Given the description of an element on the screen output the (x, y) to click on. 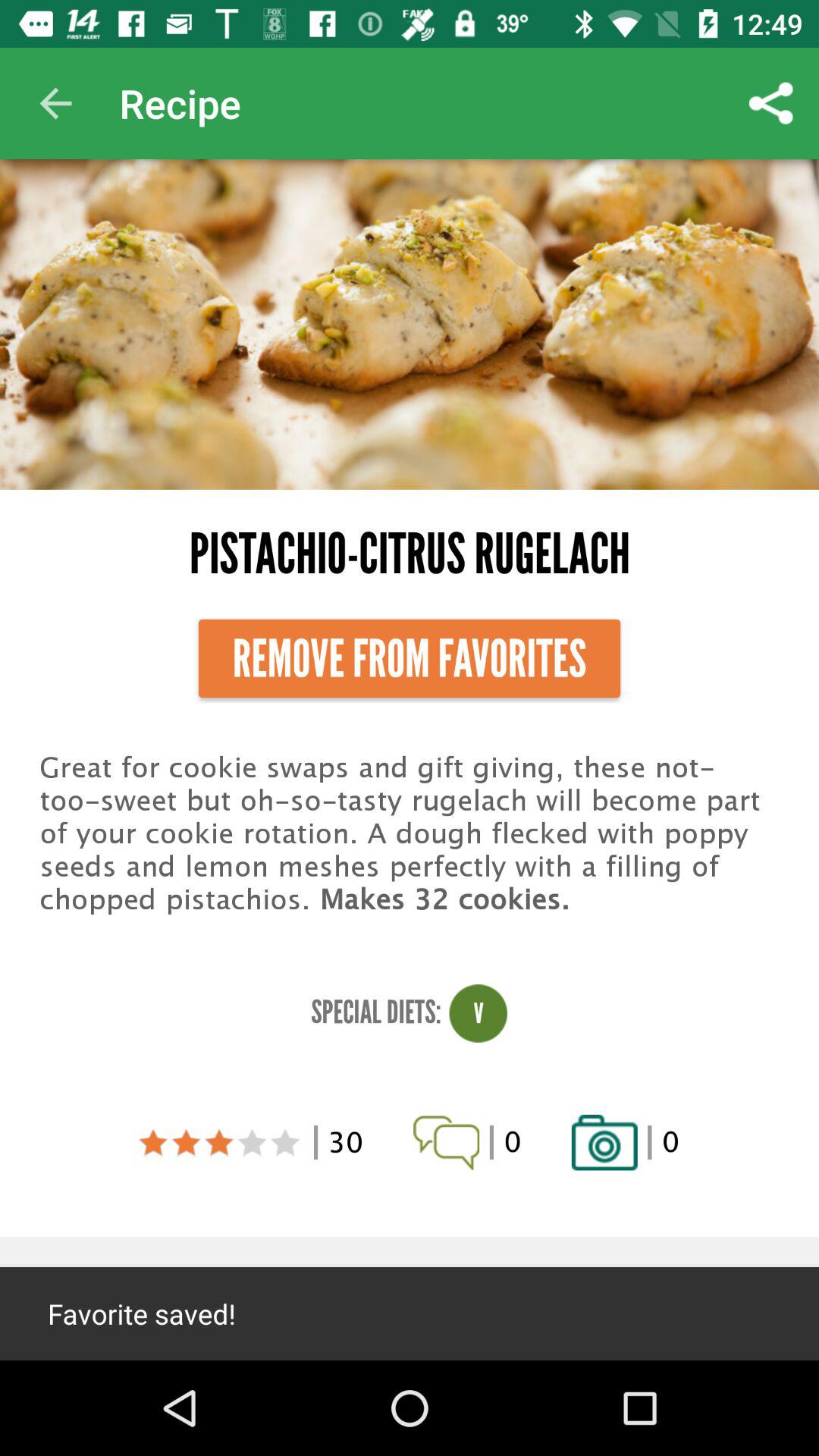
press the item at the top right corner (771, 103)
